Given the description of an element on the screen output the (x, y) to click on. 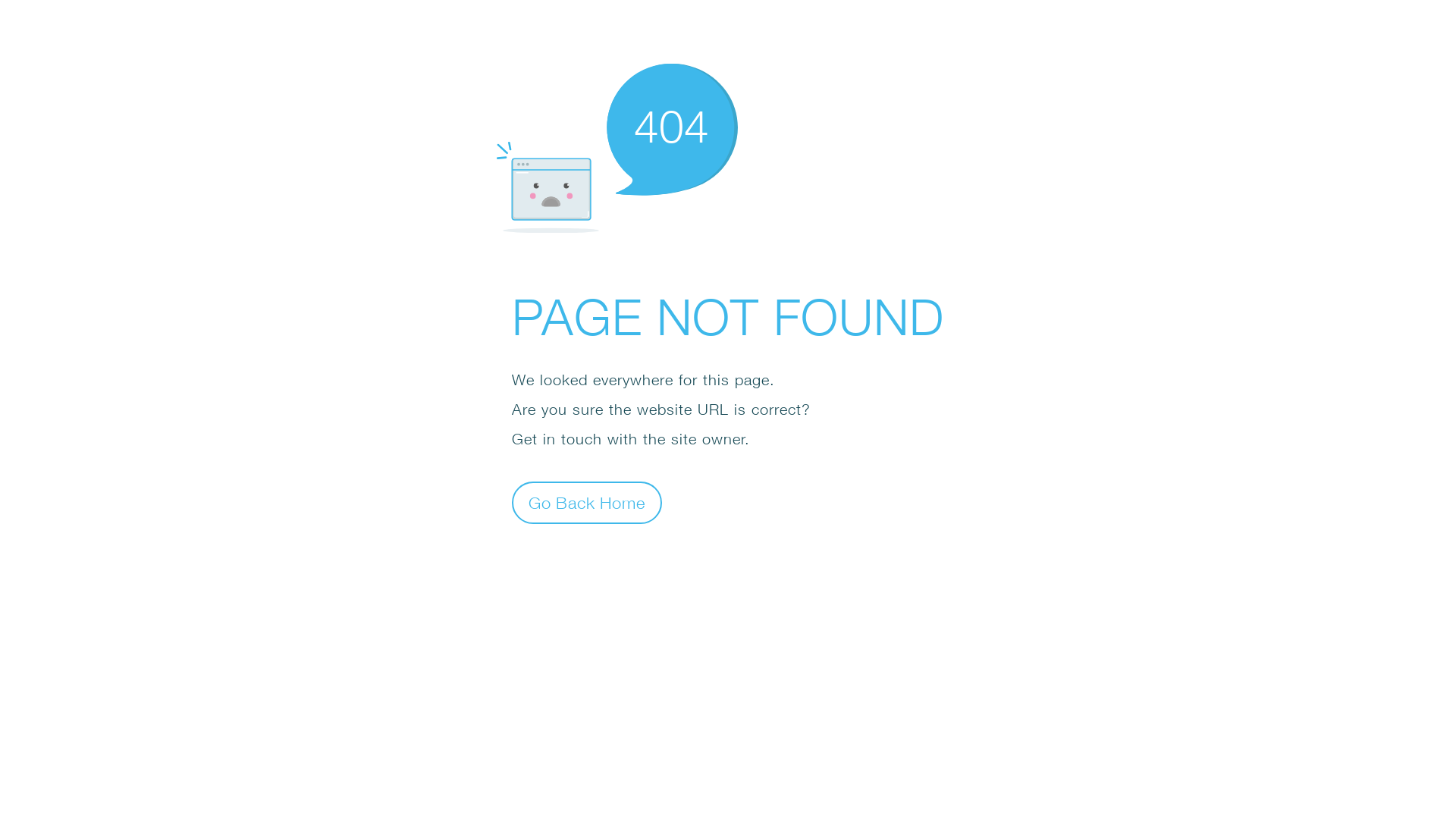
Go Back Home Element type: text (586, 502)
